Given the description of an element on the screen output the (x, y) to click on. 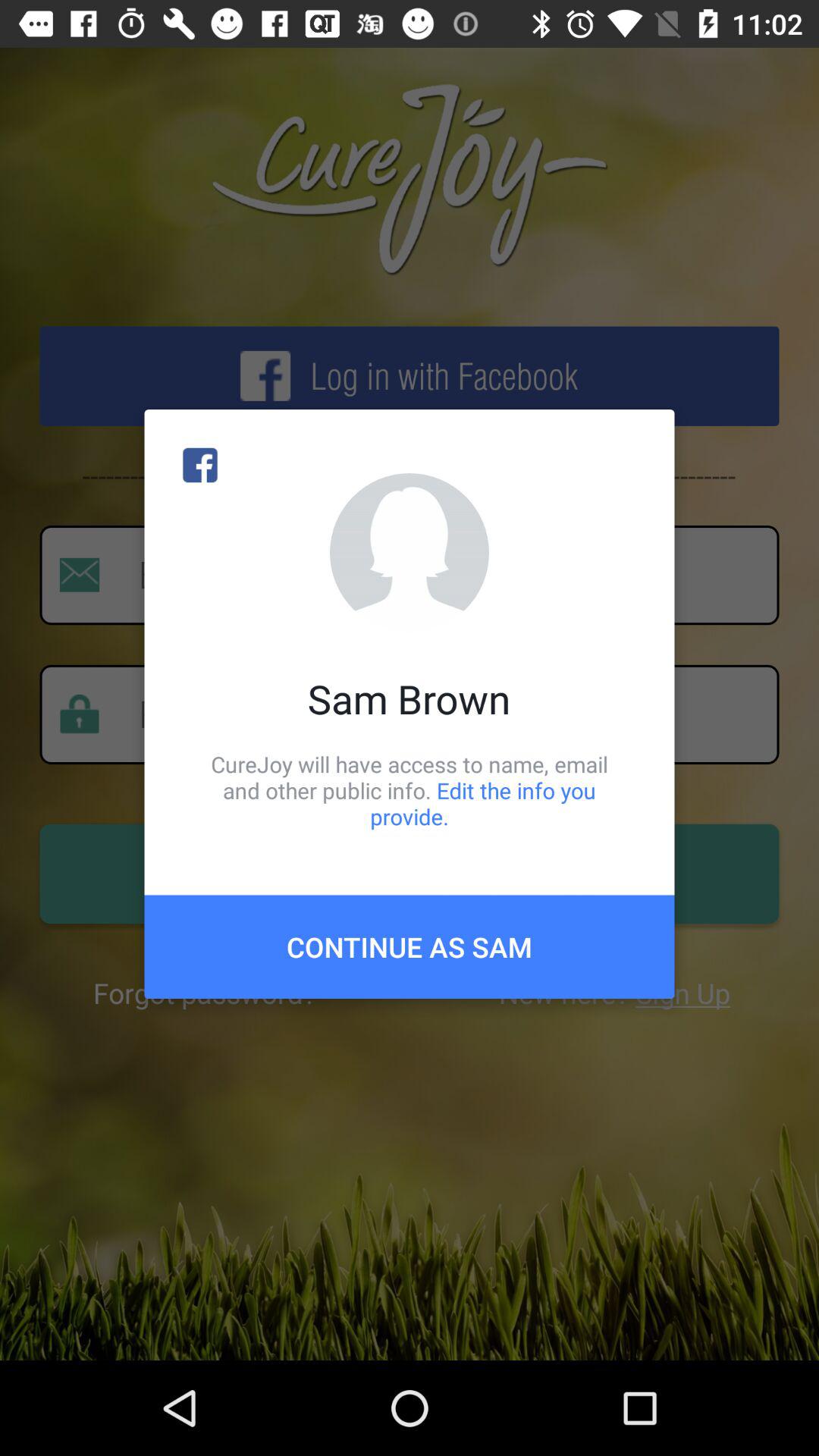
select the icon above the continue as sam item (409, 790)
